Given the description of an element on the screen output the (x, y) to click on. 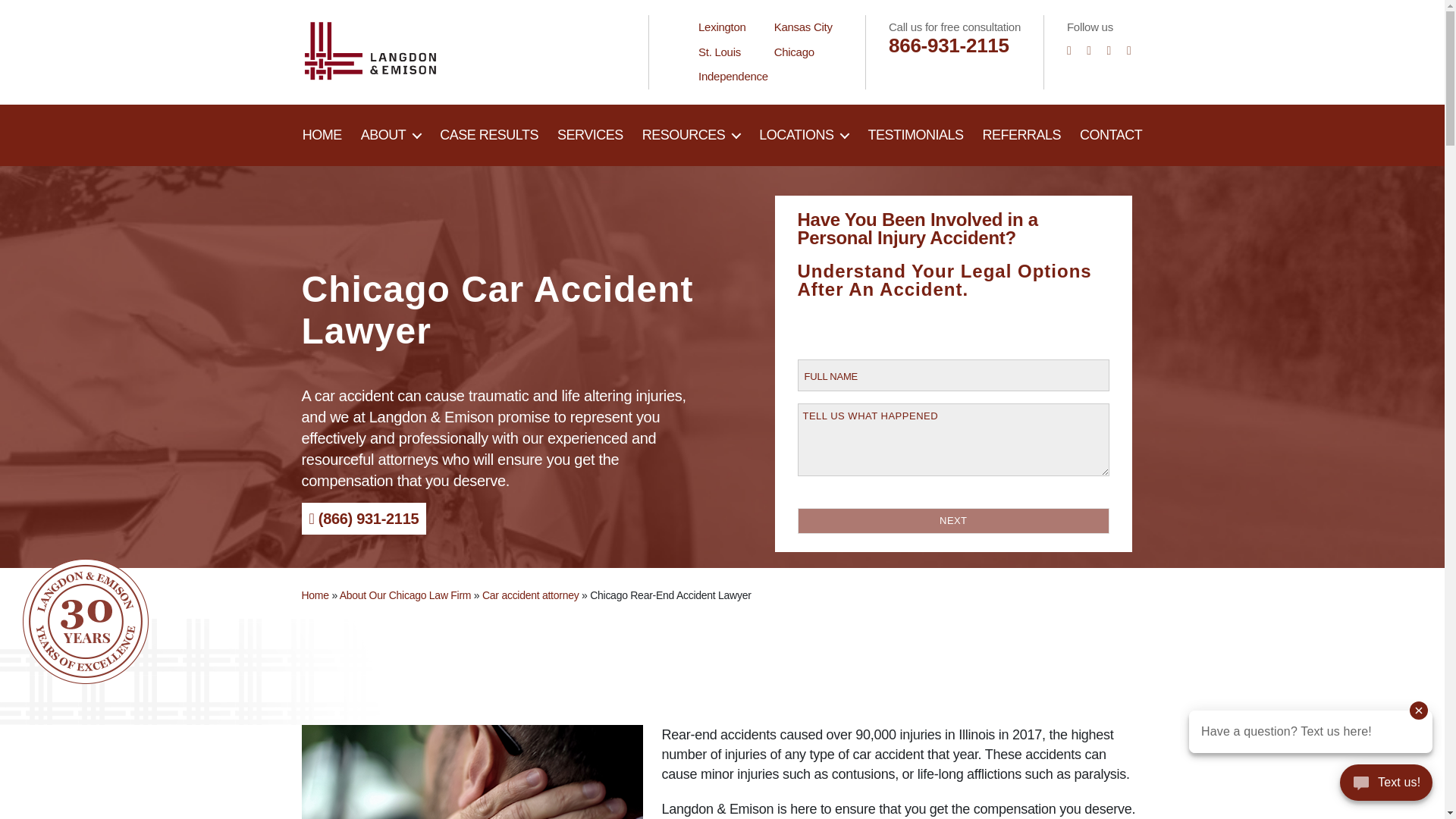
HOME (322, 135)
Kansas City (803, 26)
CASE RESULTS (488, 135)
Case Results (488, 135)
St. Louis (719, 51)
About (391, 135)
Independence (733, 75)
Lexington (721, 26)
Services (590, 135)
ABOUT (391, 135)
RESOURCES (691, 135)
Next (953, 520)
LOCATIONS (803, 135)
SERVICES (590, 135)
Resources (691, 135)
